Given the description of an element on the screen output the (x, y) to click on. 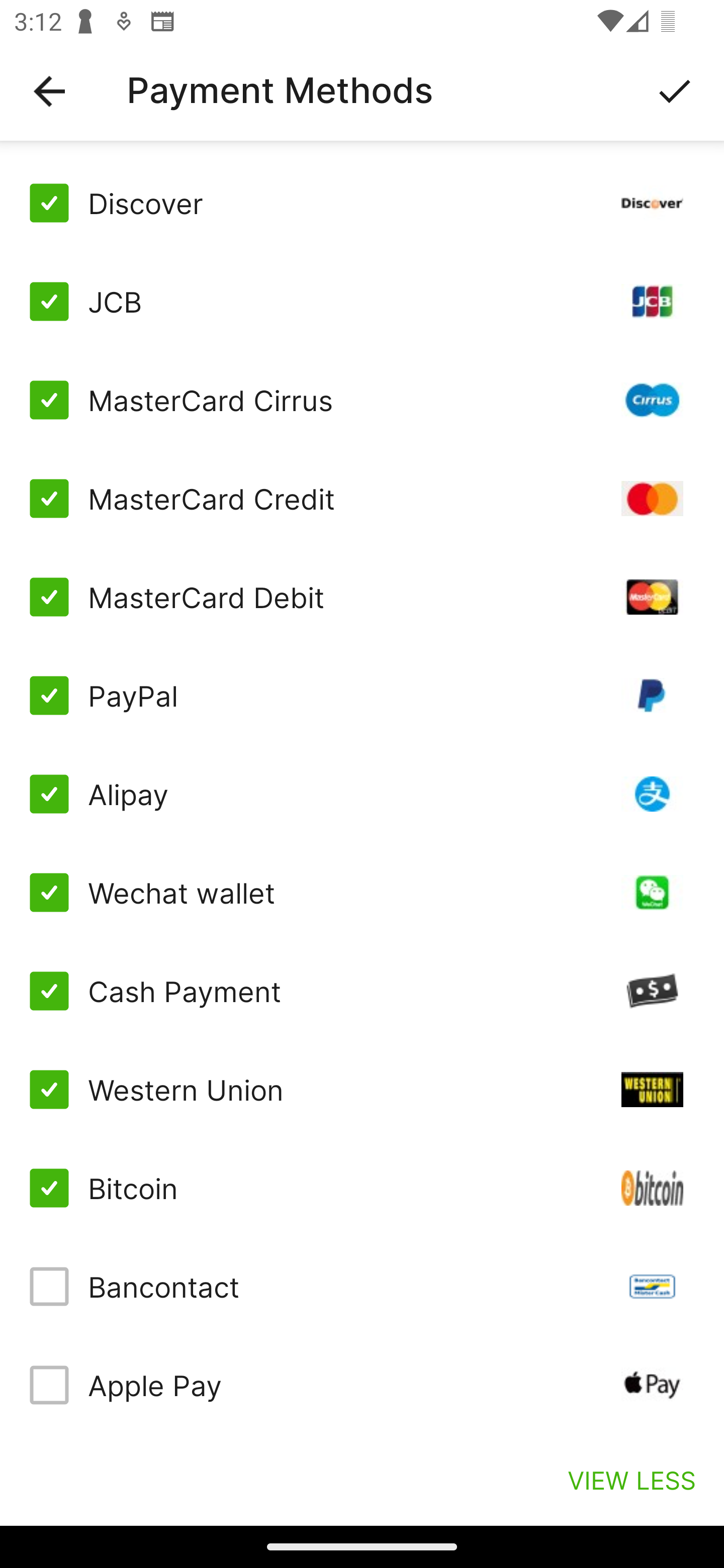
Discover (362, 202)
JCB (362, 301)
MasterCard Cirrus (362, 400)
MasterCard Credit (362, 498)
MasterCard Debit (362, 596)
PayPal (362, 695)
Alipay (362, 793)
Wechat wallet (362, 892)
Cash Payment (362, 990)
Western Union (362, 1088)
Bitcoin (362, 1187)
Bancontact (362, 1286)
Apple Pay (362, 1384)
VIEW LESS (631, 1479)
